Given the description of an element on the screen output the (x, y) to click on. 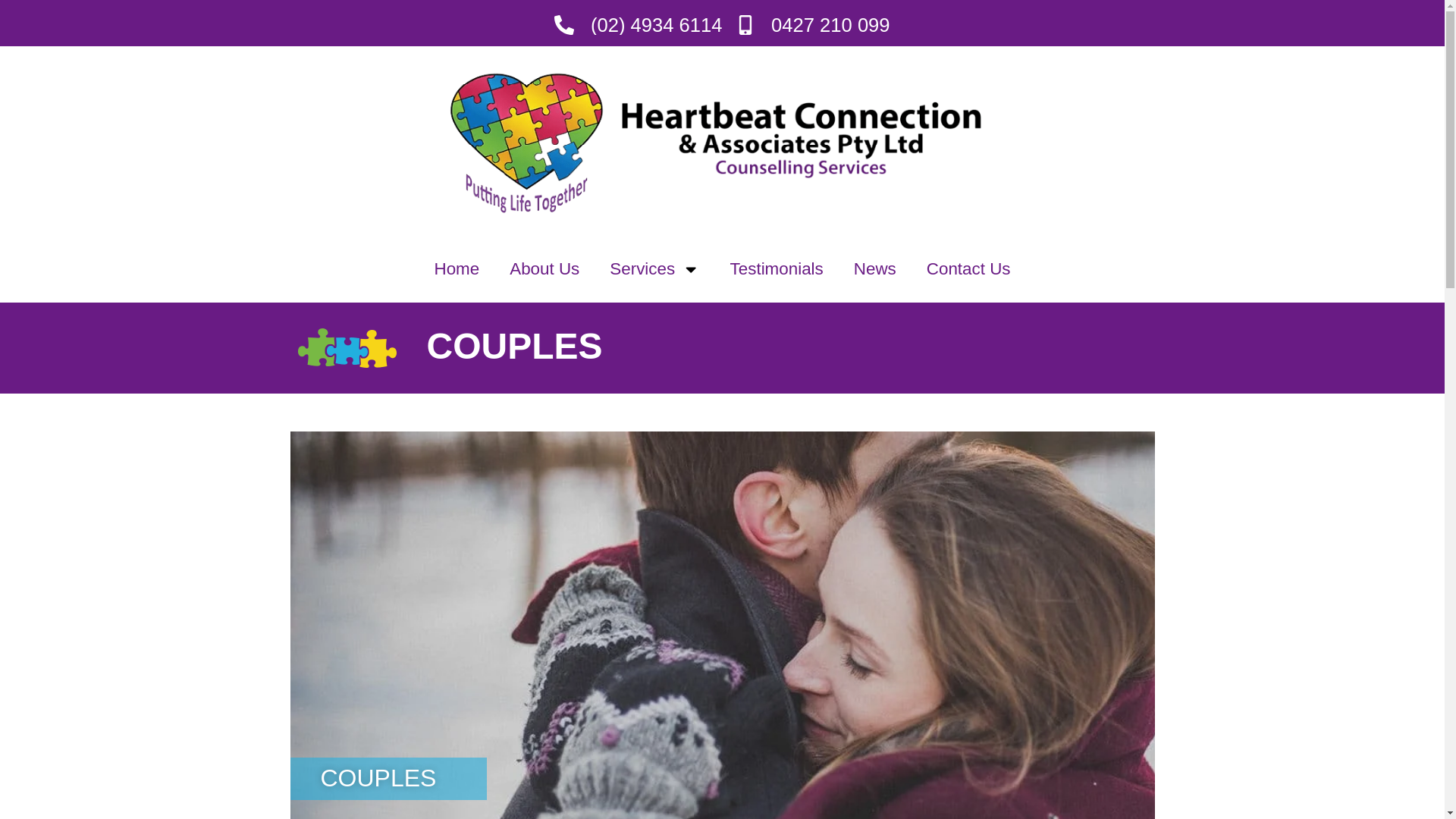
Home Element type: text (456, 269)
Services Element type: text (654, 269)
Contact Us Element type: text (968, 269)
(02) 4934 6114 Element type: text (637, 24)
About Us Element type: text (544, 269)
Testimonials Element type: text (776, 269)
0427 210 099 Element type: text (812, 24)
News Element type: text (874, 269)
